Given the description of an element on the screen output the (x, y) to click on. 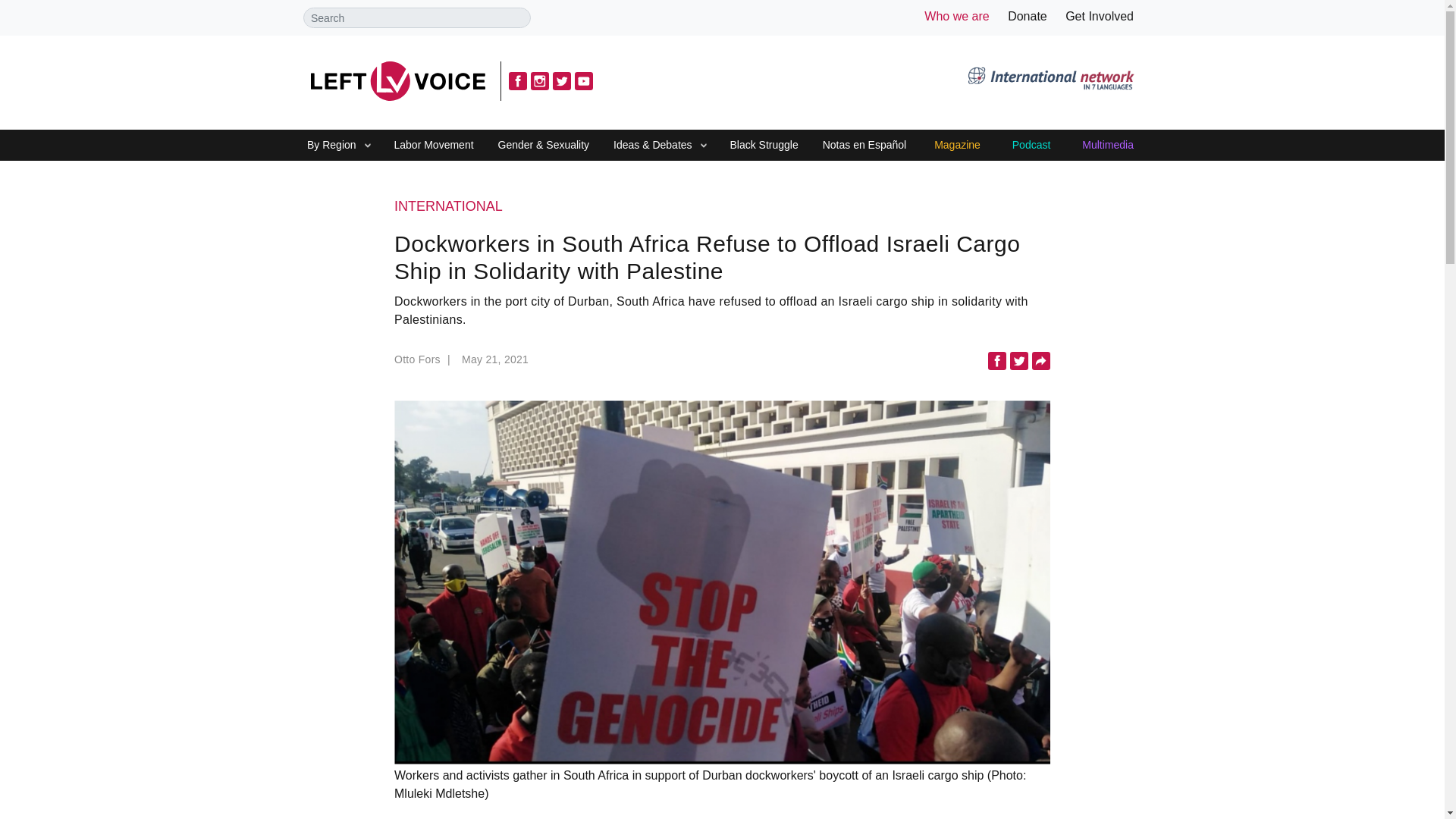
Podcast (1031, 145)
Who we are (956, 15)
Multimedia (1107, 145)
Black Struggle (763, 145)
INTERNATIONAL (721, 207)
Otto Fors (424, 363)
Left Voice (397, 80)
Donate (1027, 15)
By Region (330, 145)
Get Involved (1099, 15)
Magazine (957, 145)
International Network (1050, 80)
Labor Movement (433, 145)
